Given the description of an element on the screen output the (x, y) to click on. 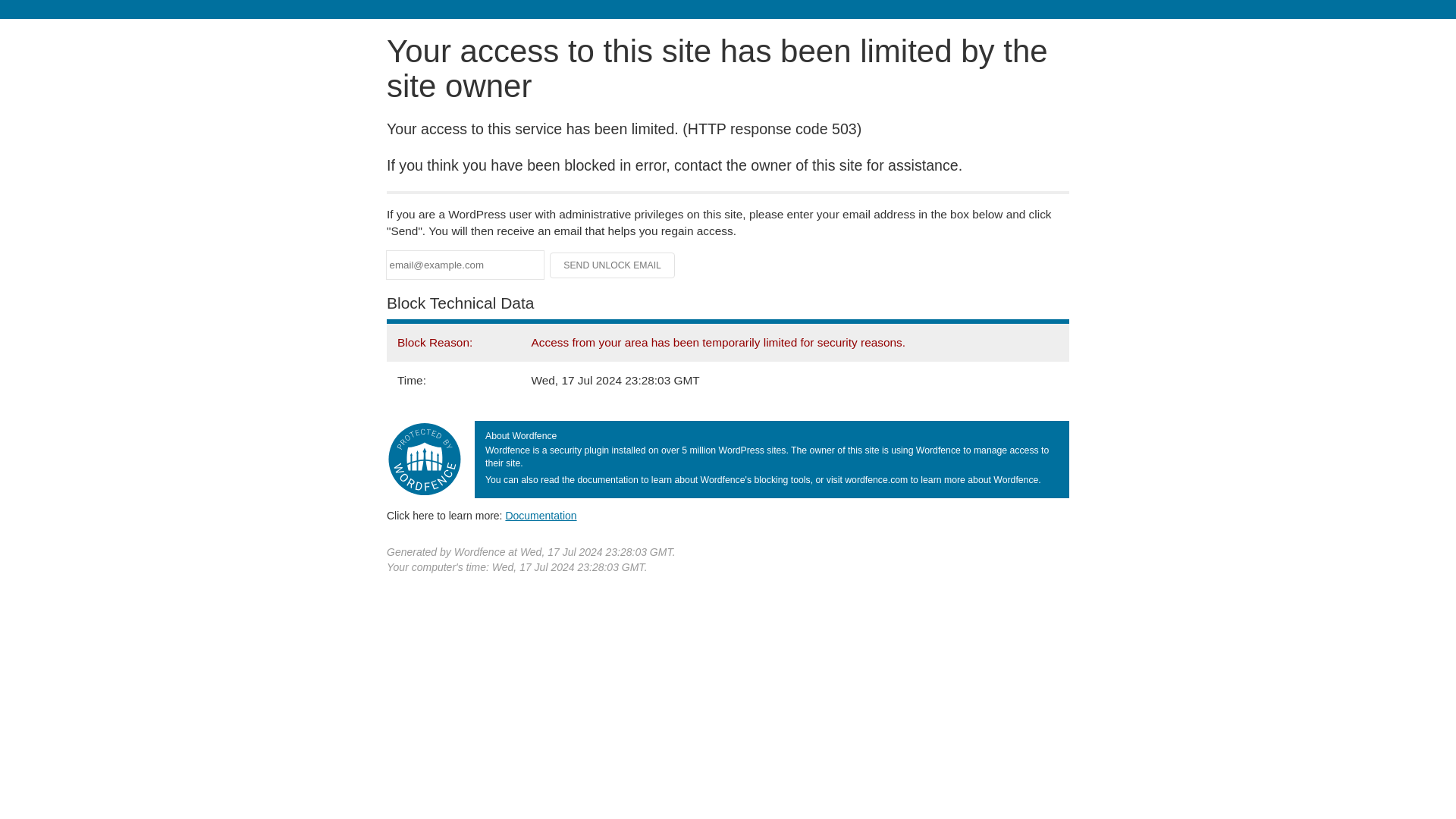
Send Unlock Email (612, 265)
Documentation (540, 515)
Send Unlock Email (612, 265)
